Given the description of an element on the screen output the (x, y) to click on. 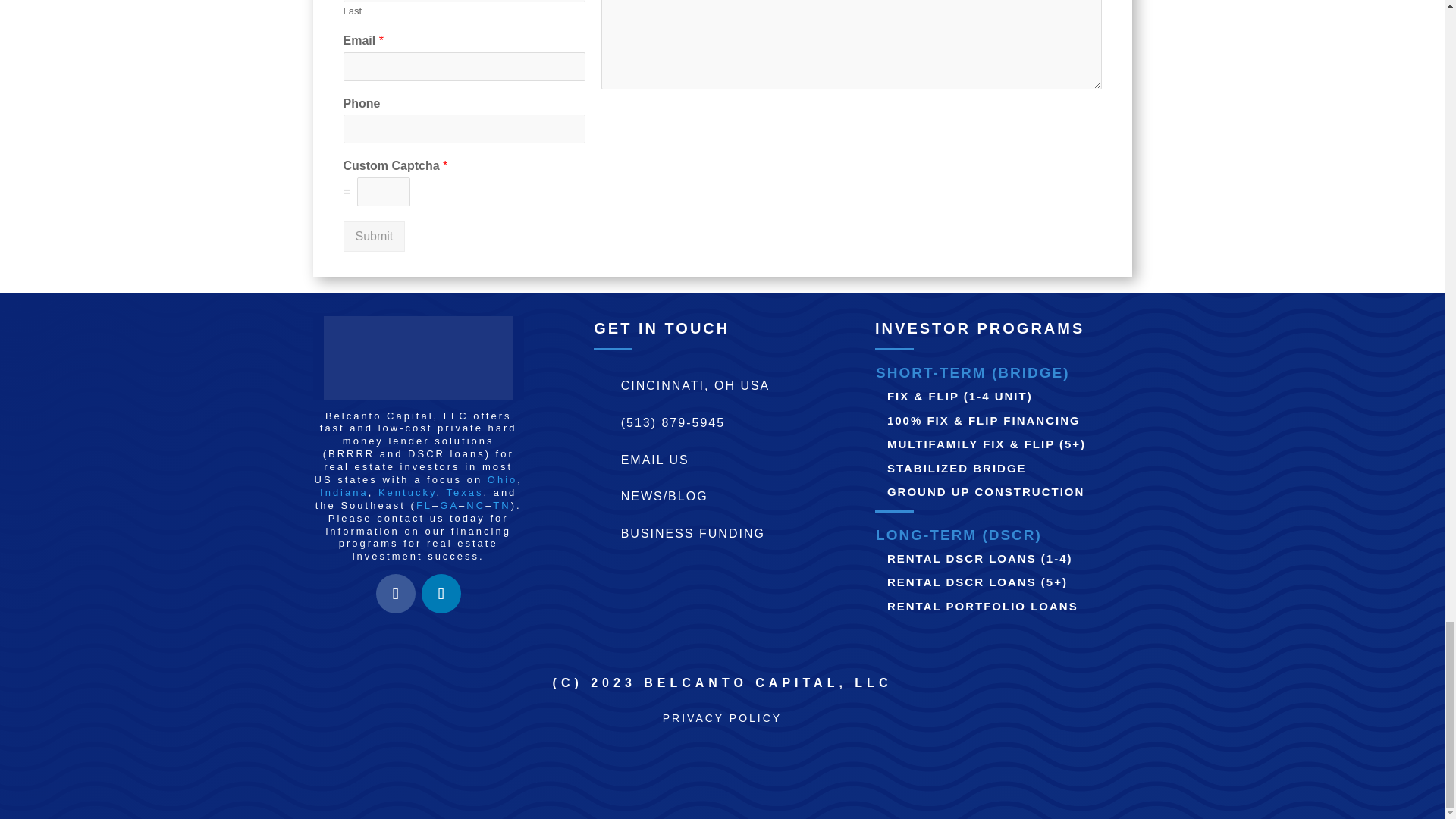
BC-logo250x110 (418, 357)
DSCR Loans Indiana (344, 491)
Follow on Facebook (394, 593)
Kentucky (407, 491)
DSCR Loans Kentucky (407, 491)
FL (424, 505)
DSCR Loans Tennessee (502, 505)
DSCR Loans Georgia (448, 505)
TN (502, 505)
Submit (373, 236)
GA (448, 505)
BUSINESS FUNDING (693, 533)
DSCR Loans Texas (464, 491)
DSCR Loans Ohio (501, 479)
EMAIL US (654, 459)
